Given the description of an element on the screen output the (x, y) to click on. 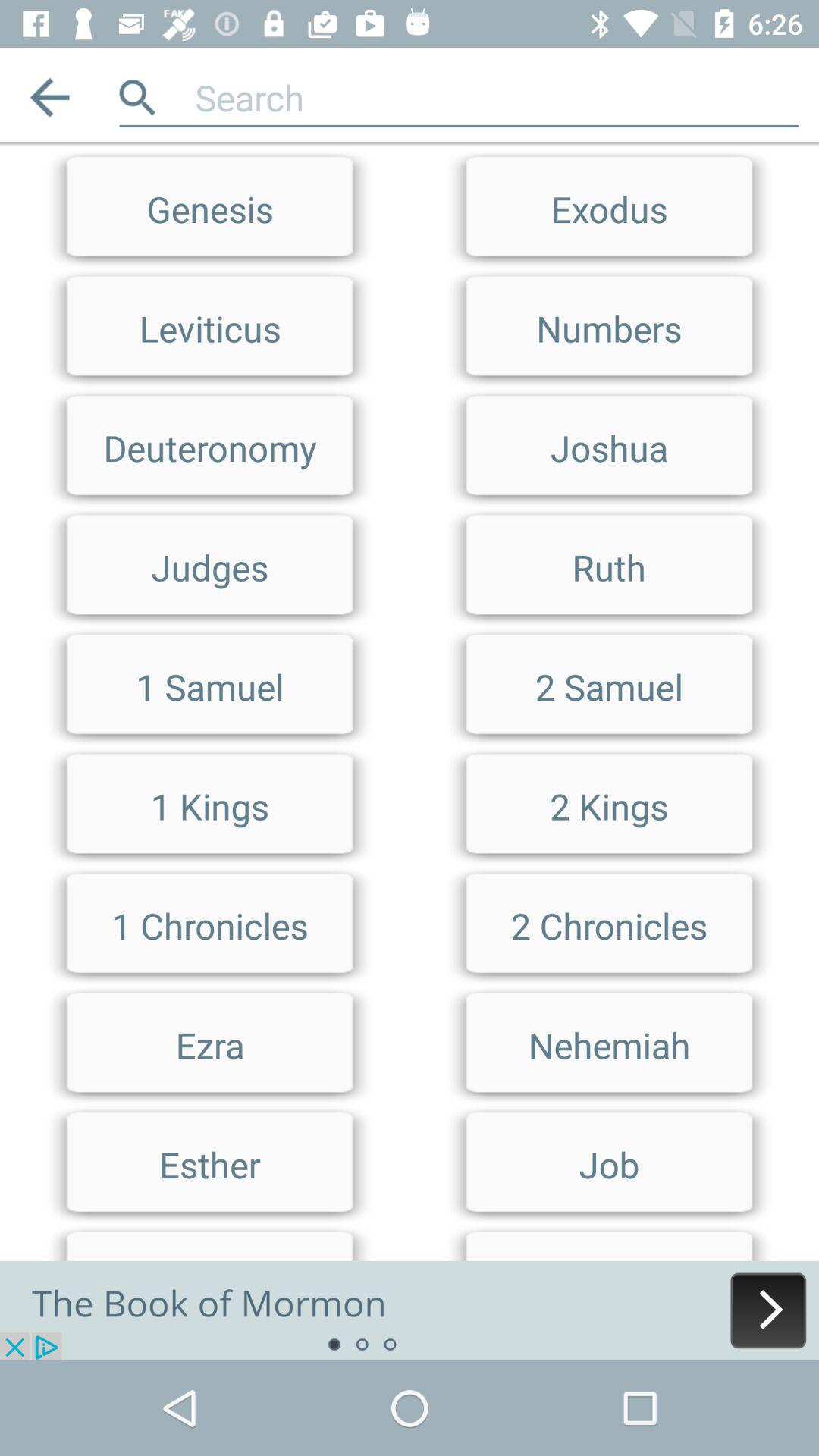
share the article (409, 1310)
